Given the description of an element on the screen output the (x, y) to click on. 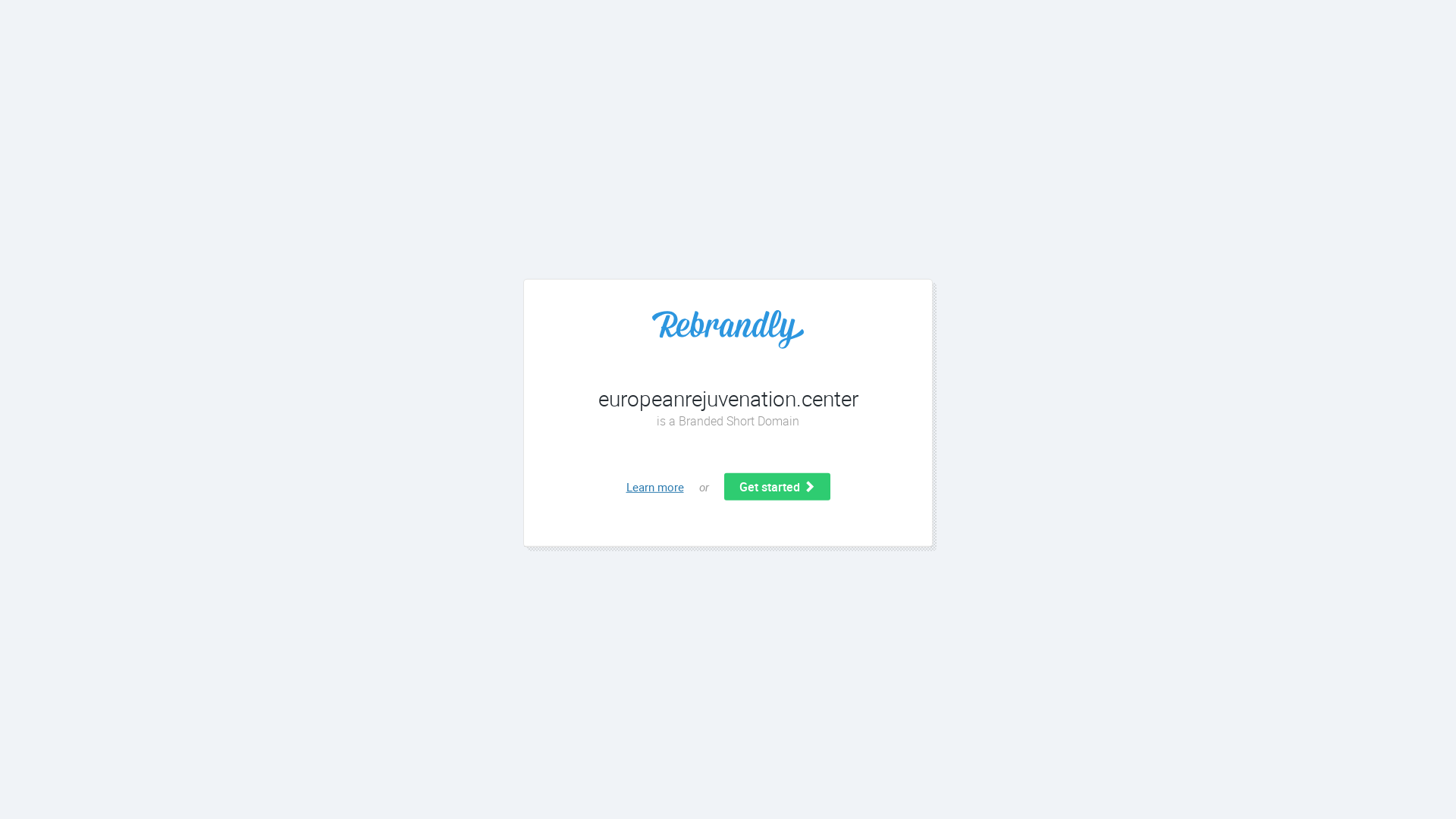
Learn more Element type: text (655, 486)
Get started Element type: text (776, 486)
